Given the description of an element on the screen output the (x, y) to click on. 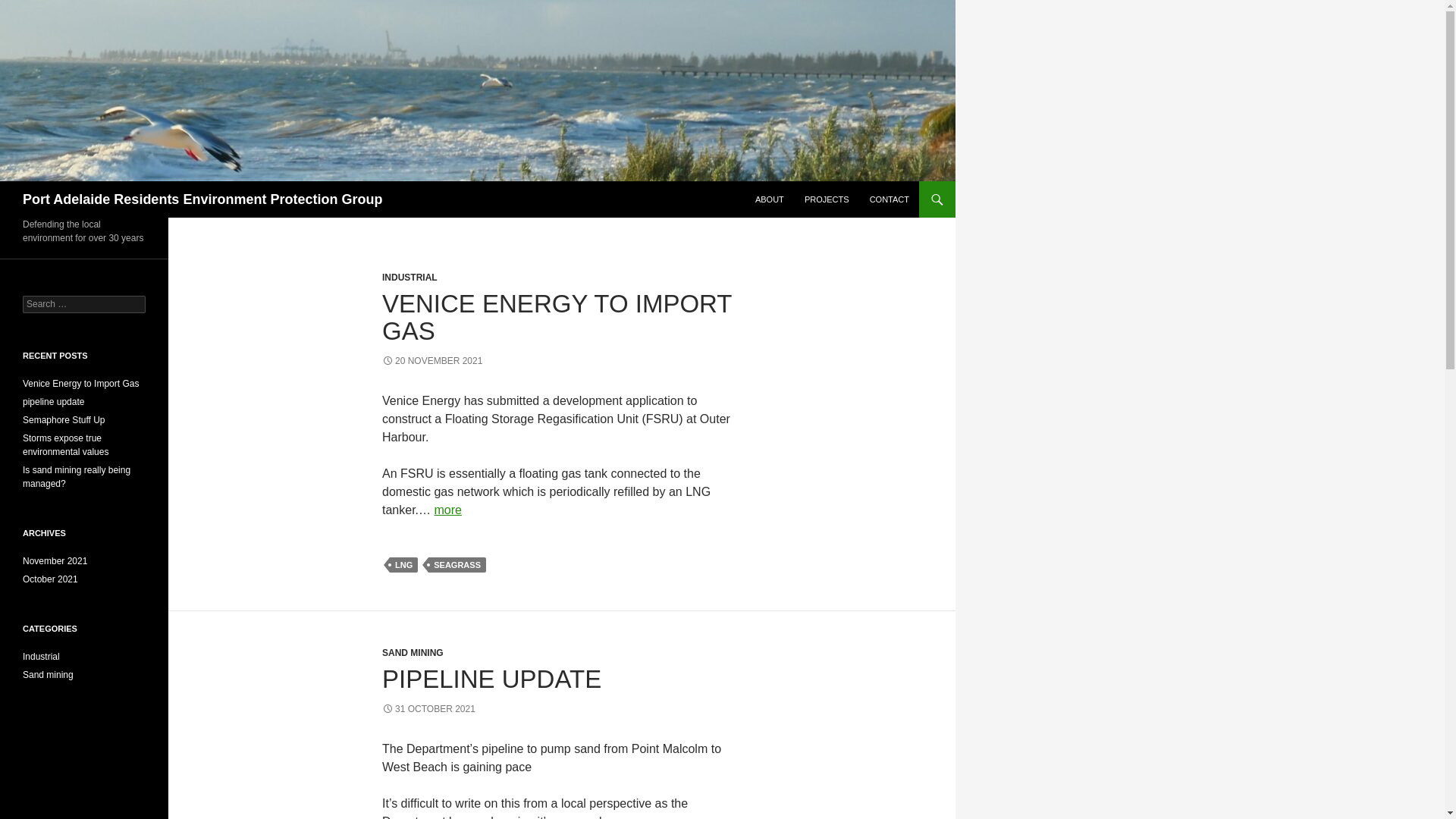
CONTACT (889, 198)
VENICE ENERGY TO IMPORT GAS (556, 316)
LNG (403, 564)
Port Adelaide Residents Environment Protection Group (202, 198)
SAND MINING (412, 652)
PROJECTS (826, 198)
20 NOVEMBER 2021 (431, 360)
SEAGRASS (457, 564)
